Given the description of an element on the screen output the (x, y) to click on. 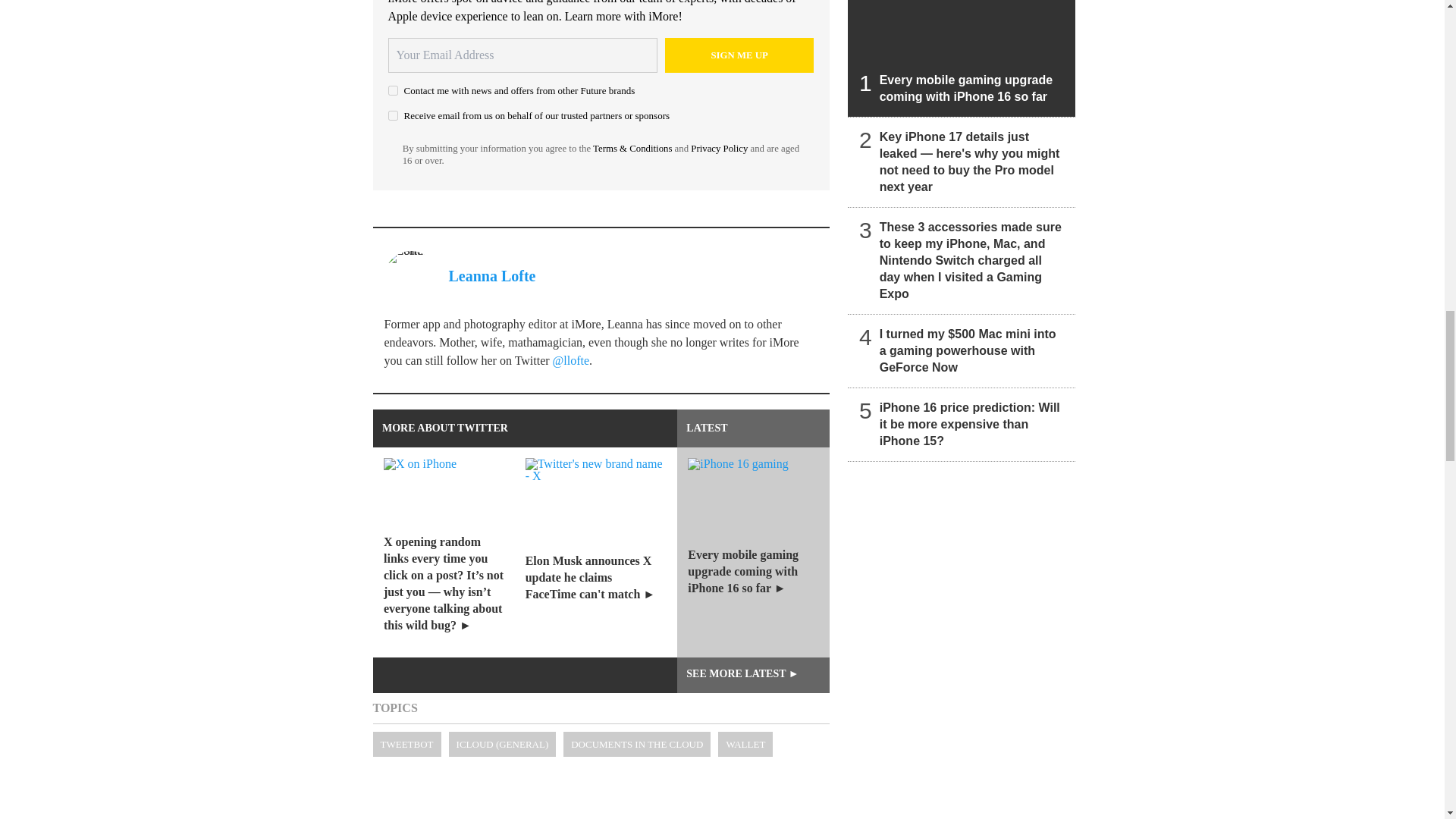
Every mobile gaming upgrade coming with iPhone 16 so far (961, 58)
on (392, 115)
Sign me up (739, 54)
on (392, 90)
